Given the description of an element on the screen output the (x, y) to click on. 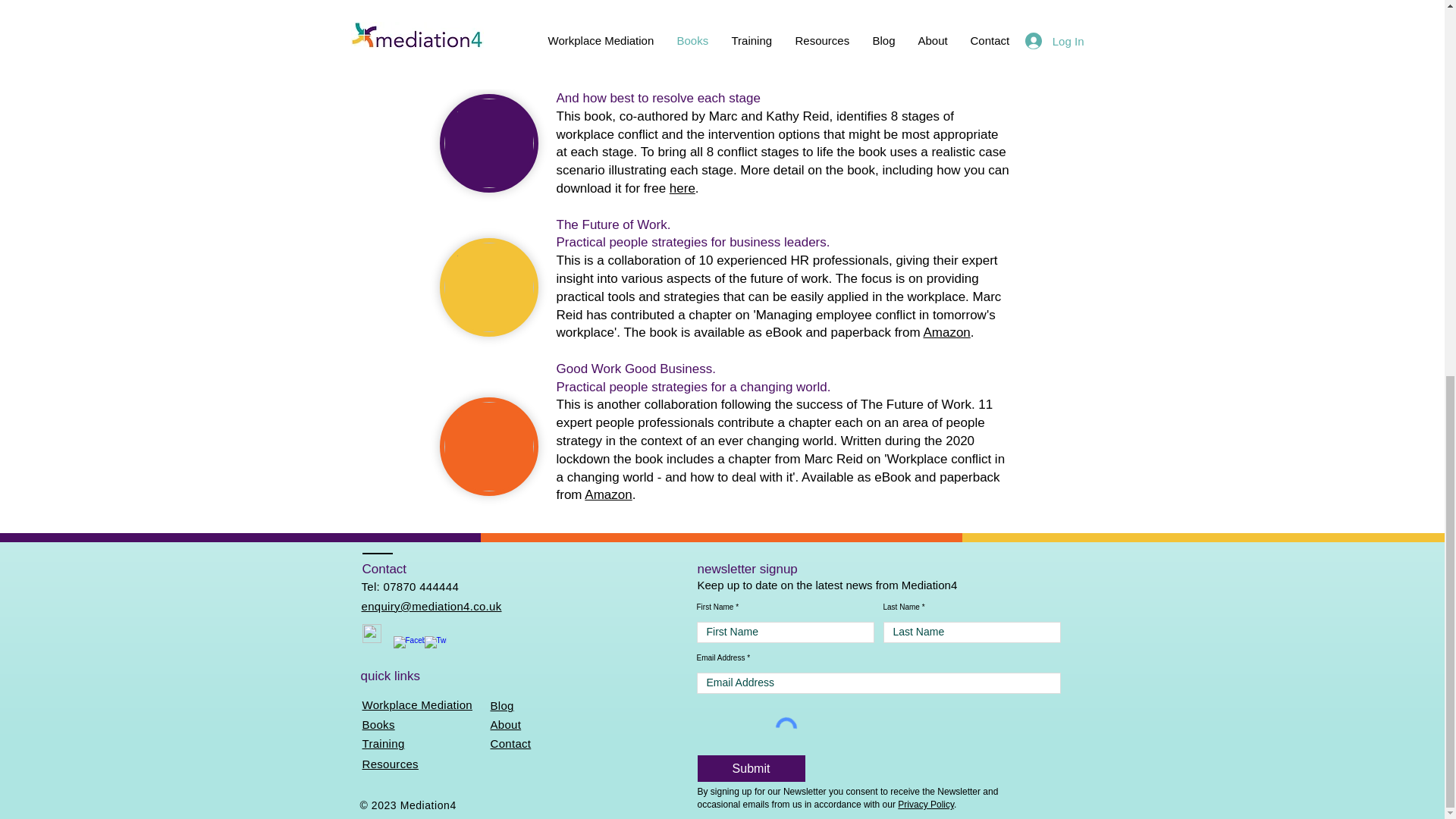
latest news (843, 584)
here (682, 187)
Training (383, 743)
here (946, 43)
Resources (390, 763)
Blog (501, 705)
About (505, 724)
The Future of Work eBook cover final.jpg (488, 287)
Workplace Mediation (417, 704)
Cover new.jpg (488, 143)
